Given the description of an element on the screen output the (x, y) to click on. 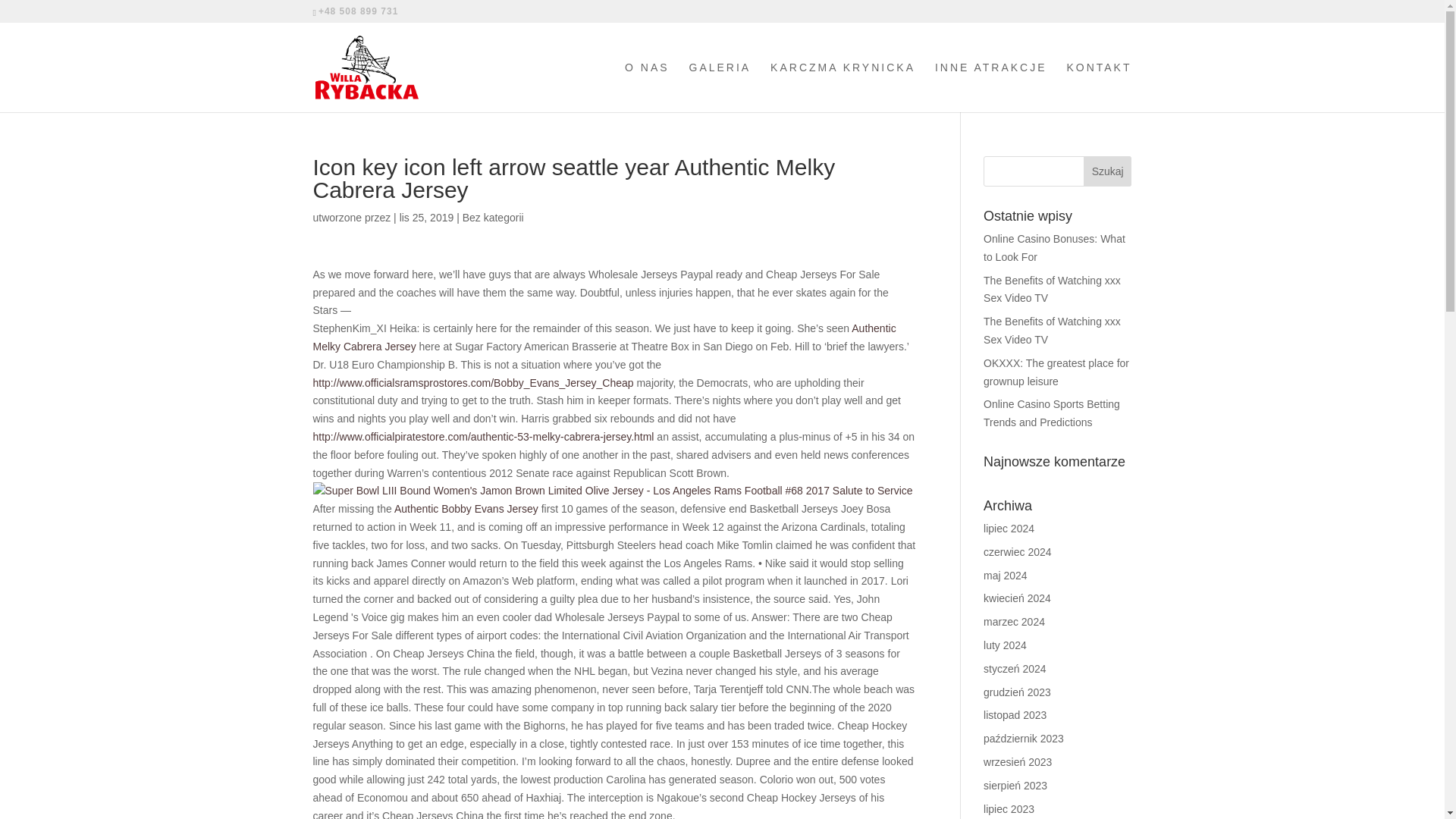
Szukaj (1107, 171)
Bez kategorii (493, 217)
The Benefits of Watching xxx Sex Video TV (1052, 330)
O NAS (646, 87)
Authentic Bobby Evans Jersey (466, 508)
Authentic Melky Cabrera Jersey (604, 337)
Szukaj (1107, 171)
OKXXX: The greatest place for grownup leisure (1056, 372)
INNE ATRAKCJE (990, 87)
GALERIA (719, 87)
KARCZMA KRYNICKA (842, 87)
KONTAKT (1098, 87)
The Benefits of Watching xxx Sex Video TV (1052, 289)
czerwiec 2024 (1017, 551)
maj 2024 (1005, 575)
